Given the description of an element on the screen output the (x, y) to click on. 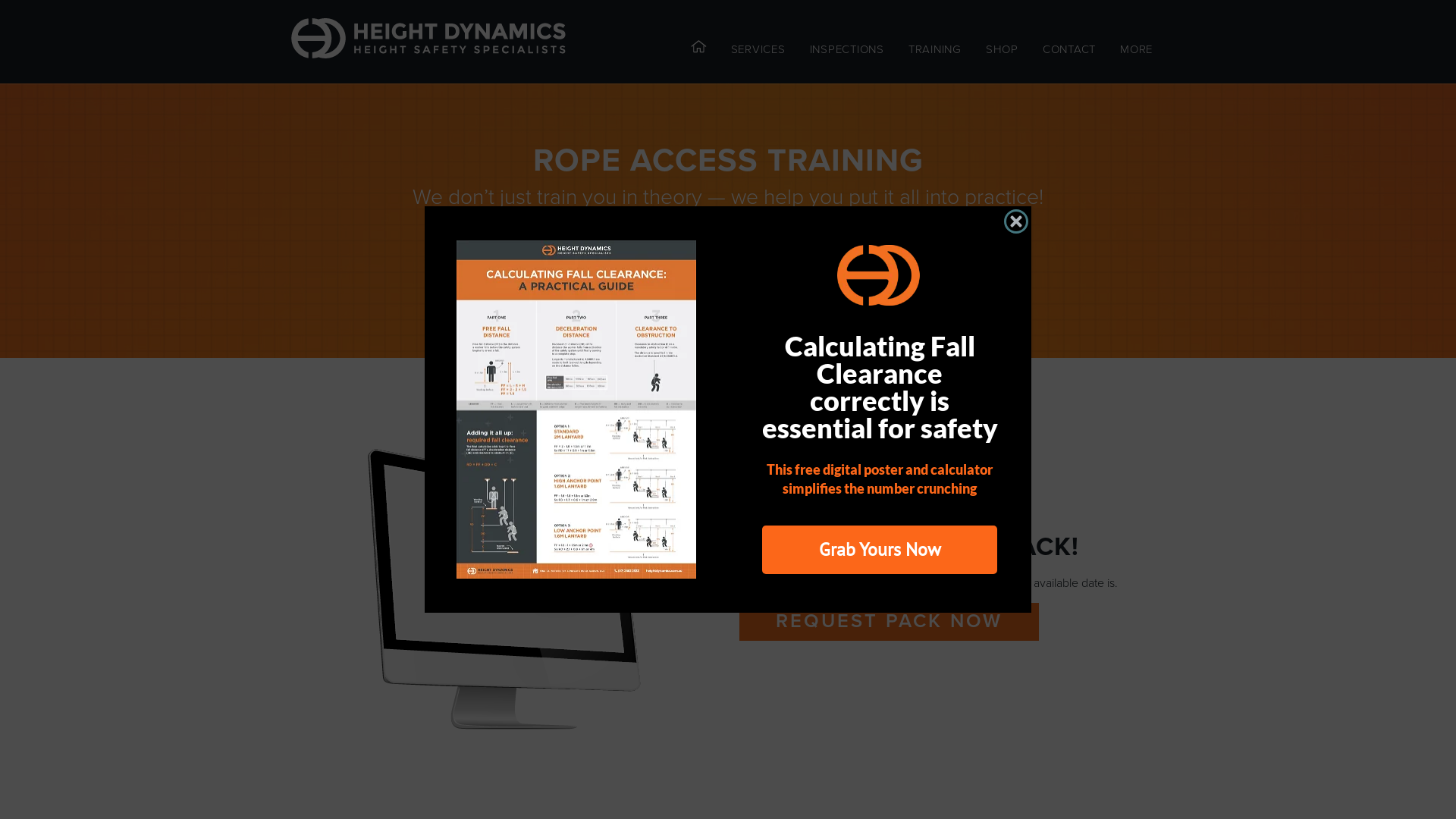
REQUEST PACK NOW Element type: text (888, 621)
Close Element type: hover (1015, 220)
SERVICES Element type: text (757, 48)
CONTACT Element type: text (1068, 48)
TRAINING Element type: text (934, 48)
Grab Yours Now Element type: text (879, 549)
INSPECTIONS Element type: text (846, 48)
MORE Element type: text (1135, 48)
SHOP Element type: text (1001, 48)
